Given the description of an element on the screen output the (x, y) to click on. 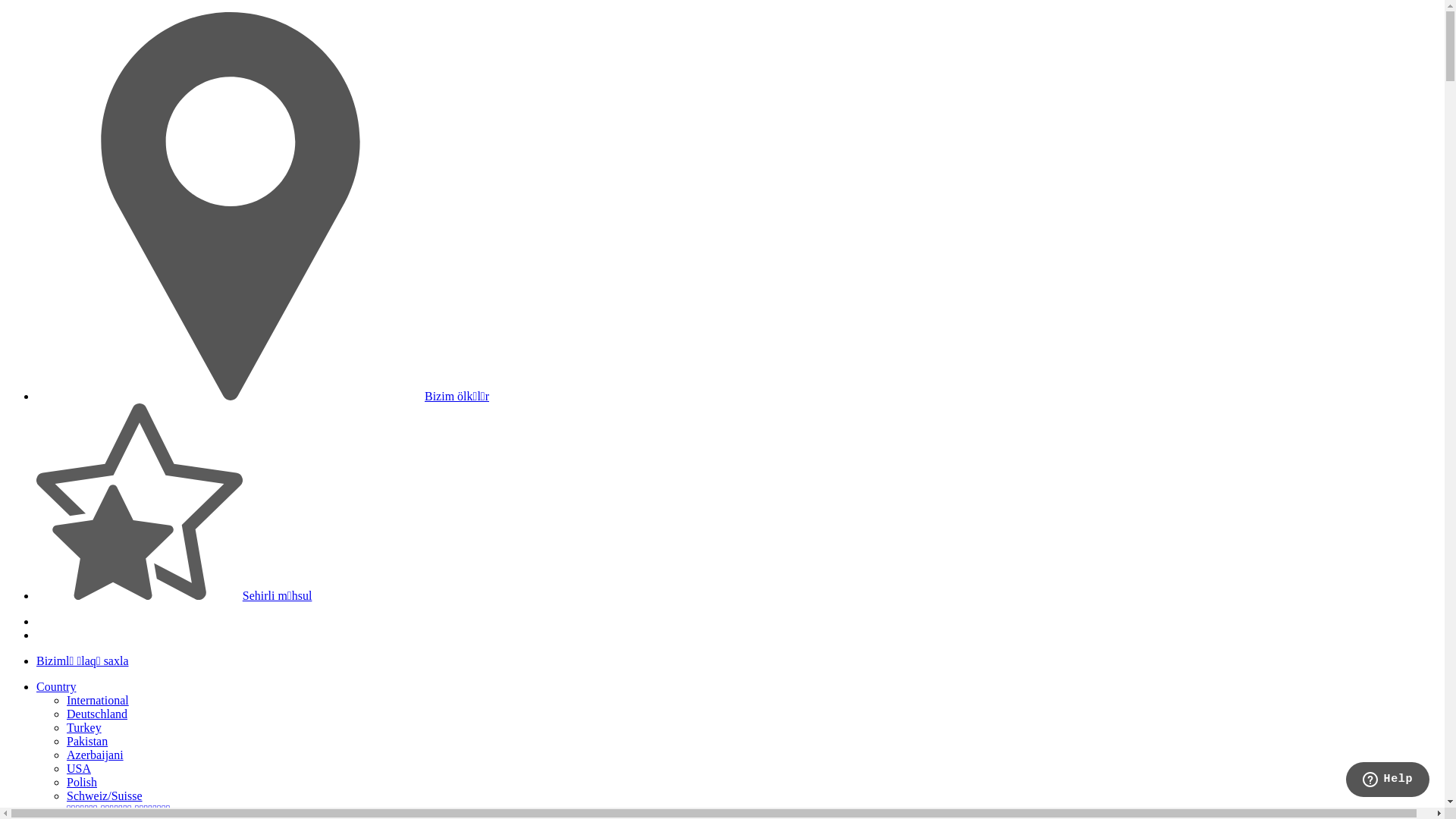
Polish Element type: text (81, 781)
Turkey Element type: text (83, 727)
Schweiz/Suisse Element type: text (104, 795)
Country Element type: text (55, 686)
Opens a widget where you can chat to one of our agents Element type: hover (1387, 781)
Deutschland Element type: text (96, 713)
International Element type: text (97, 699)
Azerbaijani Element type: text (94, 754)
Pakistan Element type: text (86, 740)
USA Element type: text (78, 768)
